Given the description of an element on the screen output the (x, y) to click on. 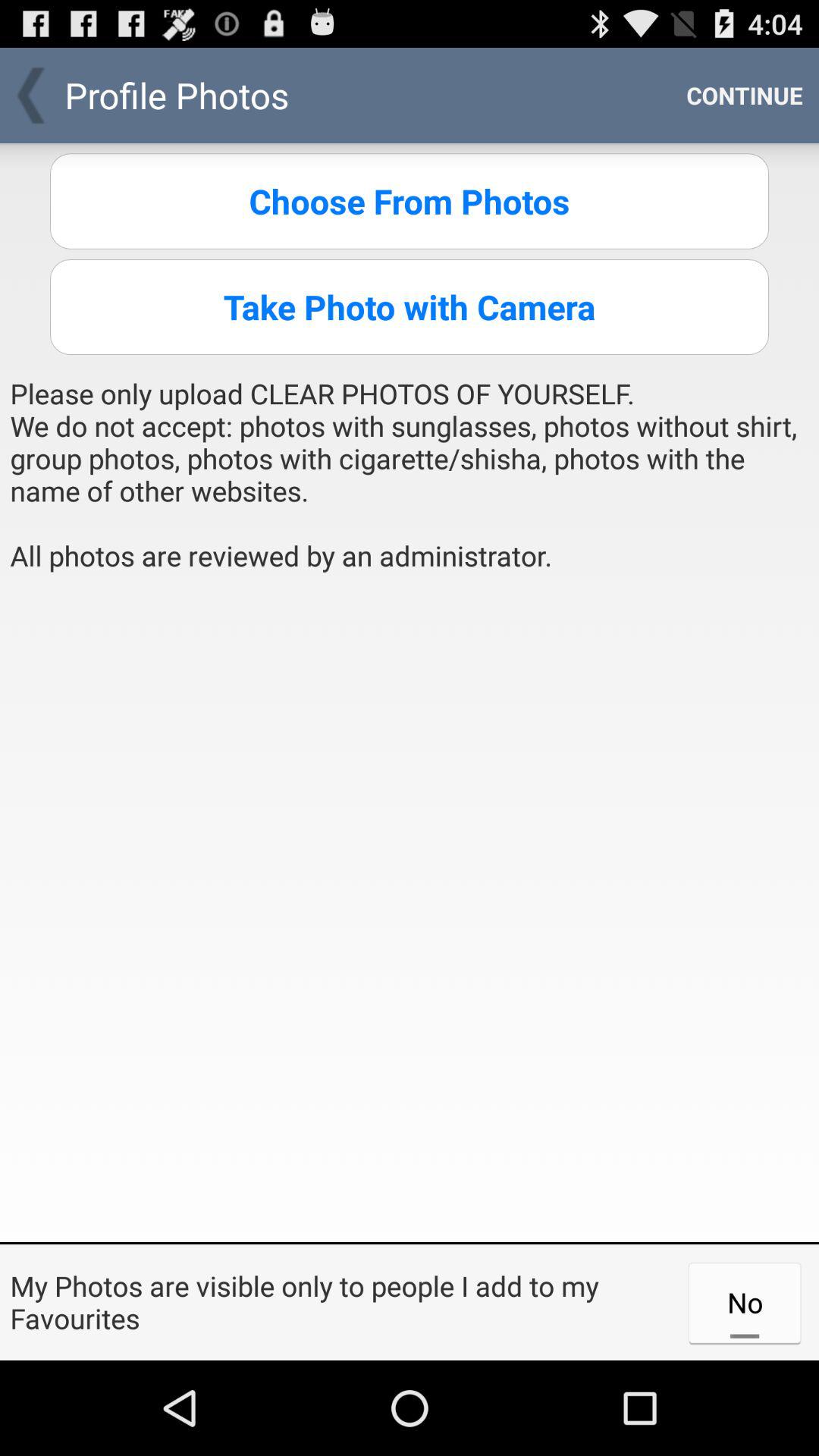
launch item below please only upload item (409, 913)
